Given the description of an element on the screen output the (x, y) to click on. 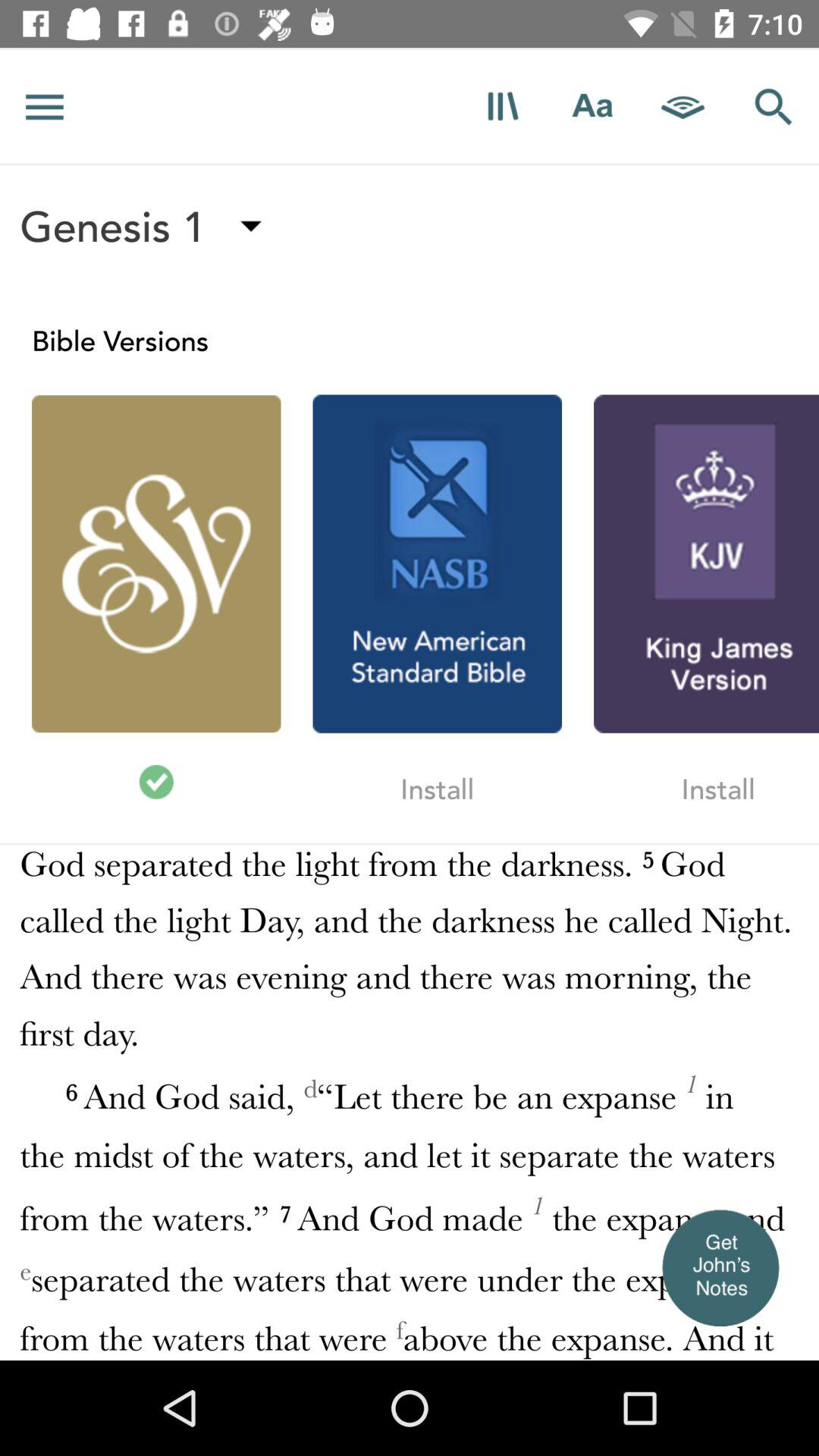
get john 's notes button (720, 1267)
